Given the description of an element on the screen output the (x, y) to click on. 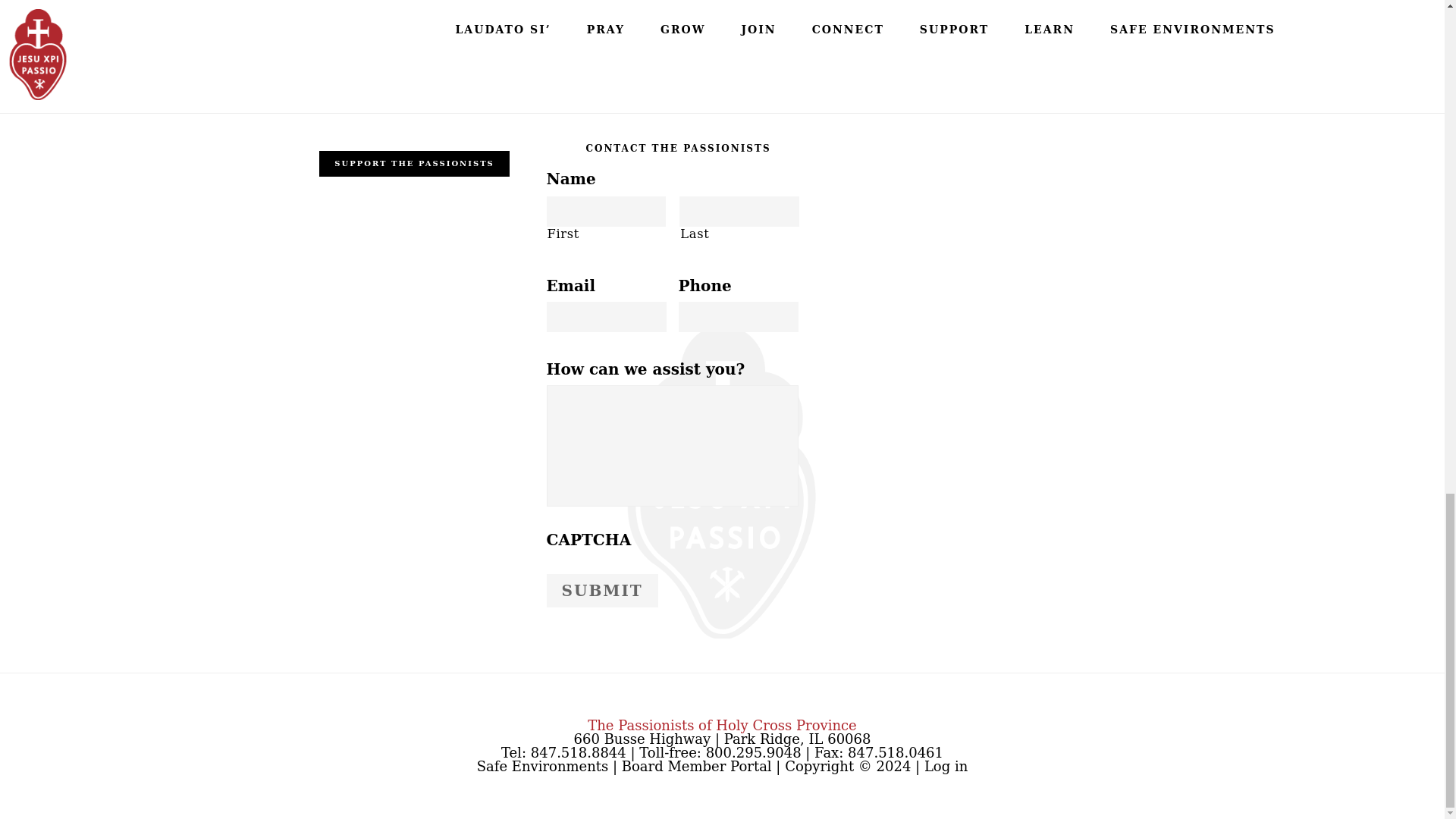
Submit (602, 590)
